Given the description of an element on the screen output the (x, y) to click on. 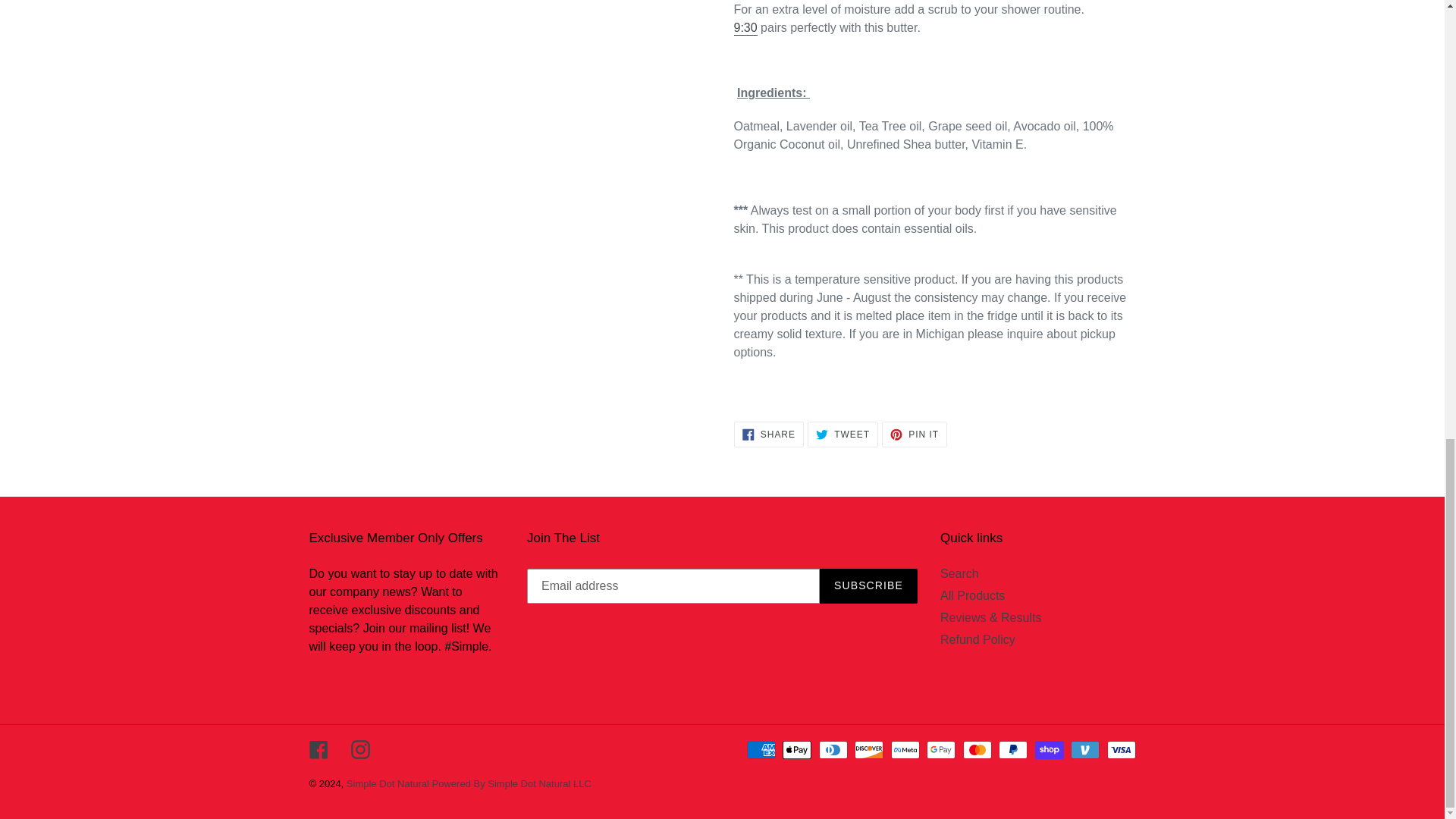
9:30- Botanical Exfoliating Body Scrub (745, 28)
